Given the description of an element on the screen output the (x, y) to click on. 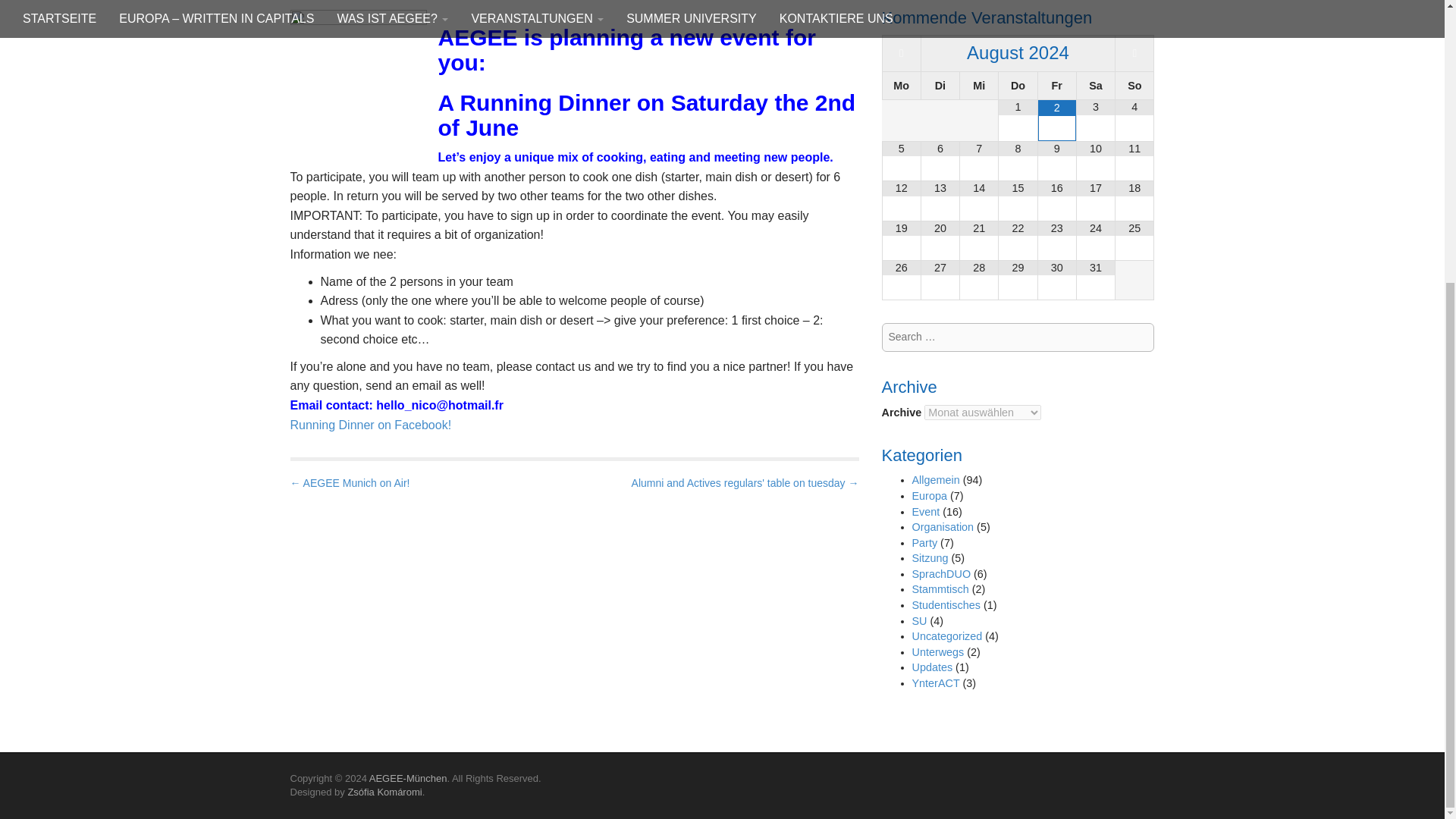
Studentisches (945, 604)
Event (925, 511)
Organisation (942, 526)
SU (918, 621)
Vorheriger Monat (901, 53)
running (357, 74)
Unterwegs (937, 652)
Running Dinner on Facebook! (370, 424)
Party (924, 542)
Updates (931, 666)
Allgemein (935, 480)
Europa (928, 495)
Stammtisch (939, 589)
Sitzung (929, 558)
SprachDUO (941, 573)
